Given the description of an element on the screen output the (x, y) to click on. 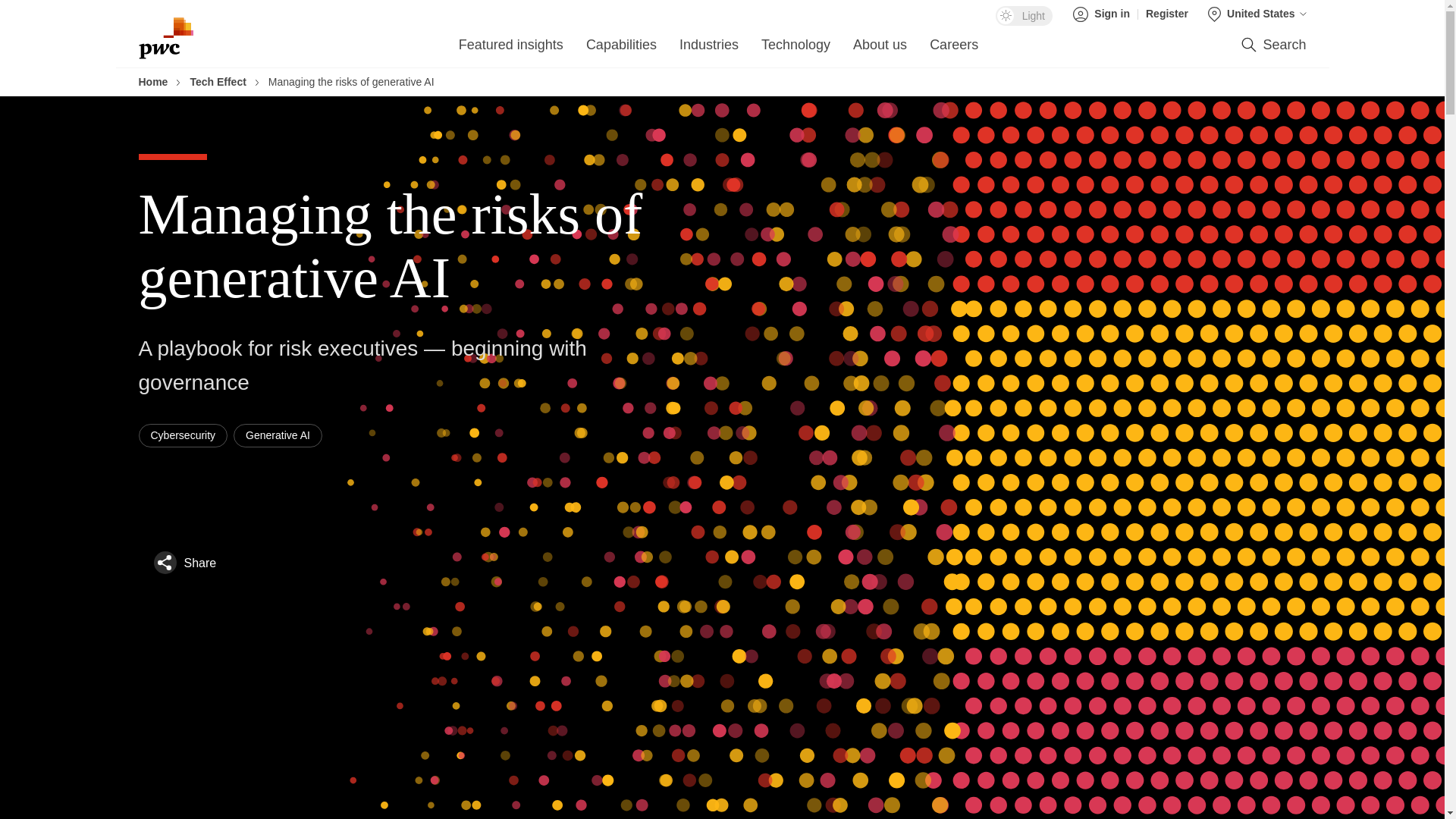
Industries (708, 49)
Capabilities (621, 49)
About us (880, 49)
United States (1257, 13)
Featured insights (510, 49)
Sign in (1105, 13)
Register (1166, 13)
Technology (795, 49)
Careers (954, 49)
